Given the description of an element on the screen output the (x, y) to click on. 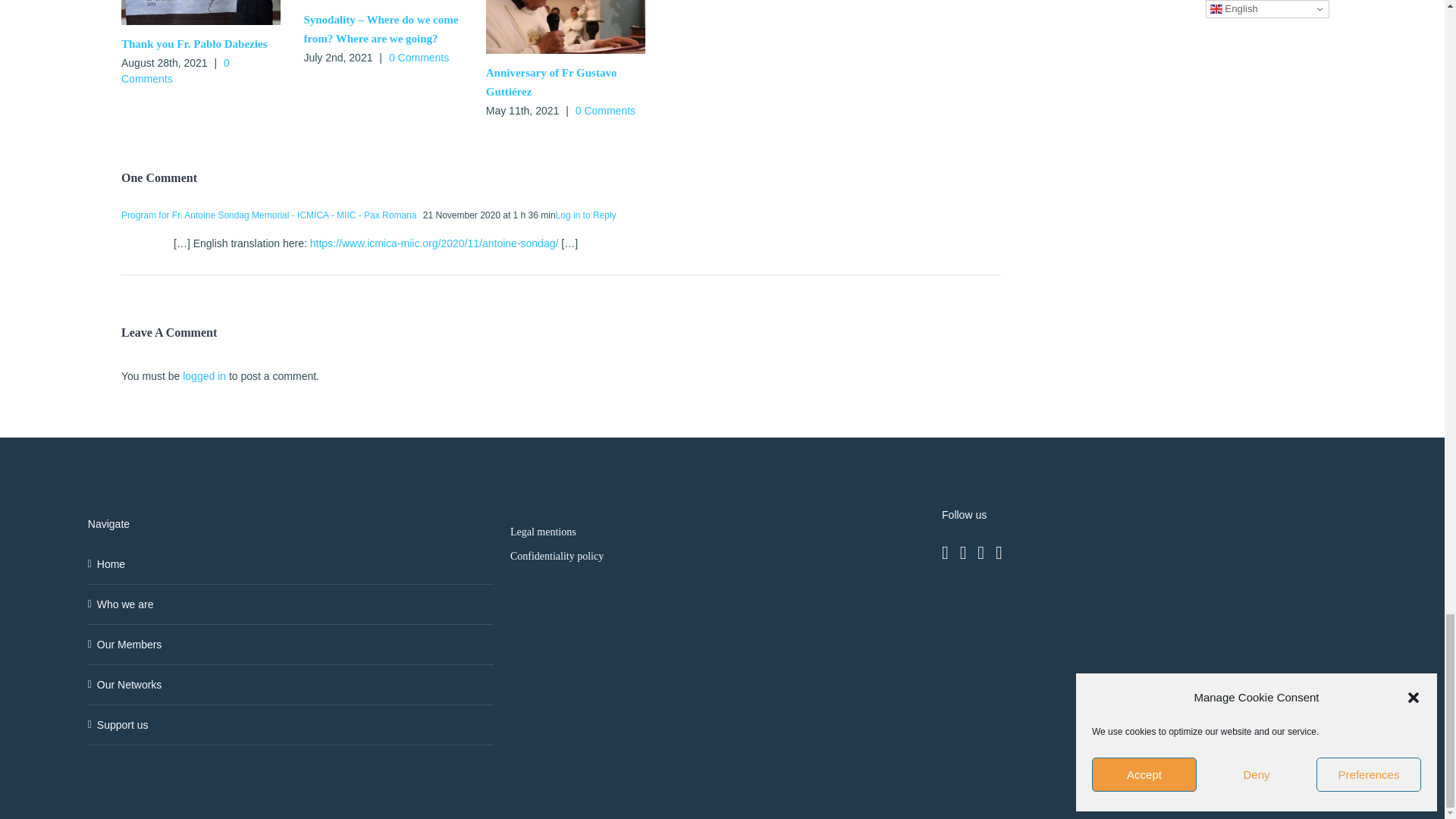
Thank you Fr. Pablo Dabezies (193, 43)
